Given the description of an element on the screen output the (x, y) to click on. 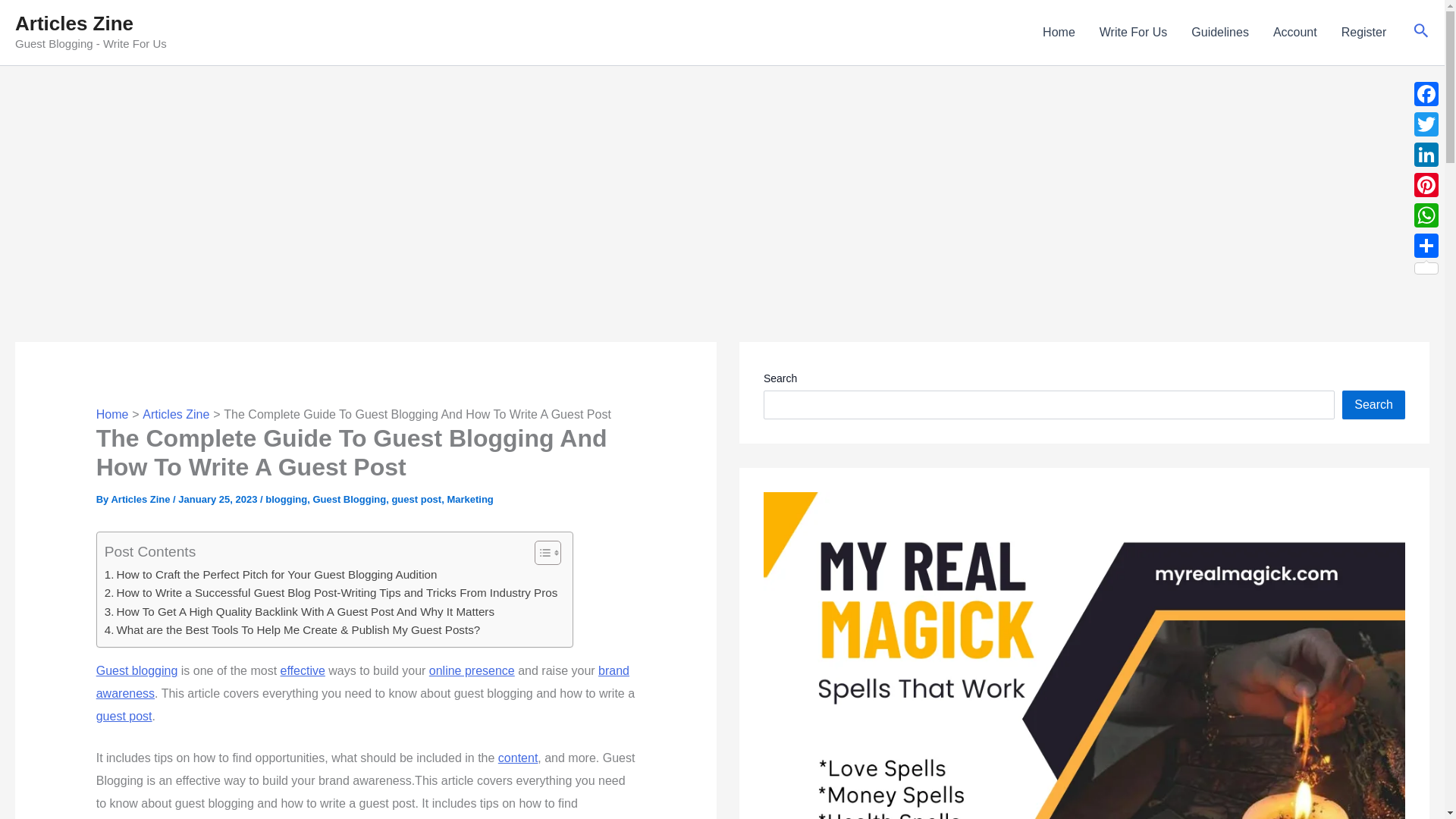
Guidelines (1219, 32)
Articles Zine (175, 413)
online presence (472, 670)
Articles Zine (141, 499)
Account (1294, 32)
Guest blogging (136, 670)
Home (1058, 32)
